Given the description of an element on the screen output the (x, y) to click on. 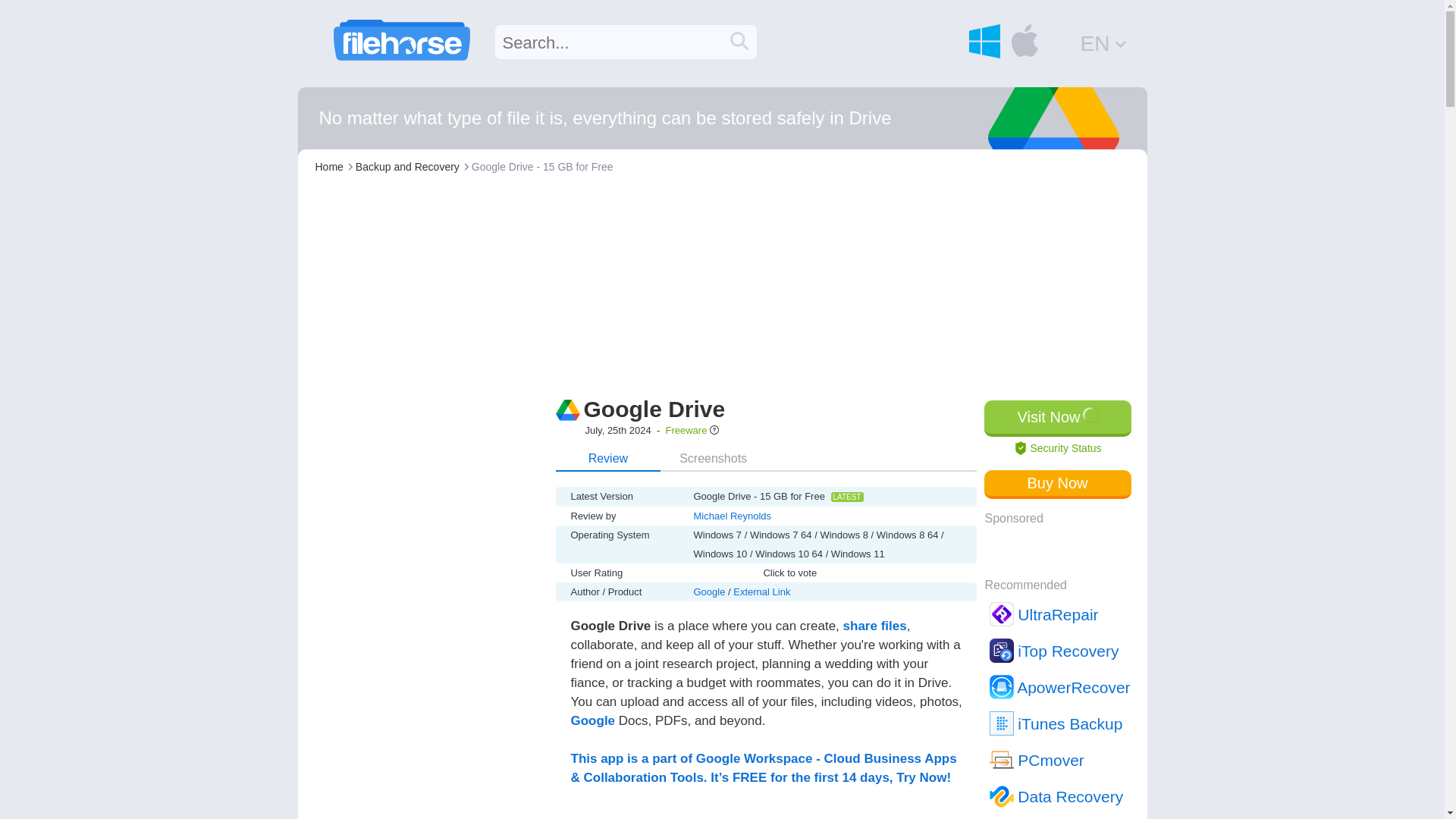
Backup and Recovery (407, 166)
Buy Now (1057, 484)
PCmover (1059, 760)
English (1103, 42)
ApowerRecover (1059, 687)
Data Recovery (1059, 796)
Click here for more details about this license (714, 430)
iTunes Backup (1059, 723)
Security Status (1056, 448)
Windows (984, 41)
iTop Recovery (1059, 650)
Acronis Cyber (1059, 816)
UltraRepair (1059, 614)
Visit Now (1057, 418)
Home (329, 166)
